Given the description of an element on the screen output the (x, y) to click on. 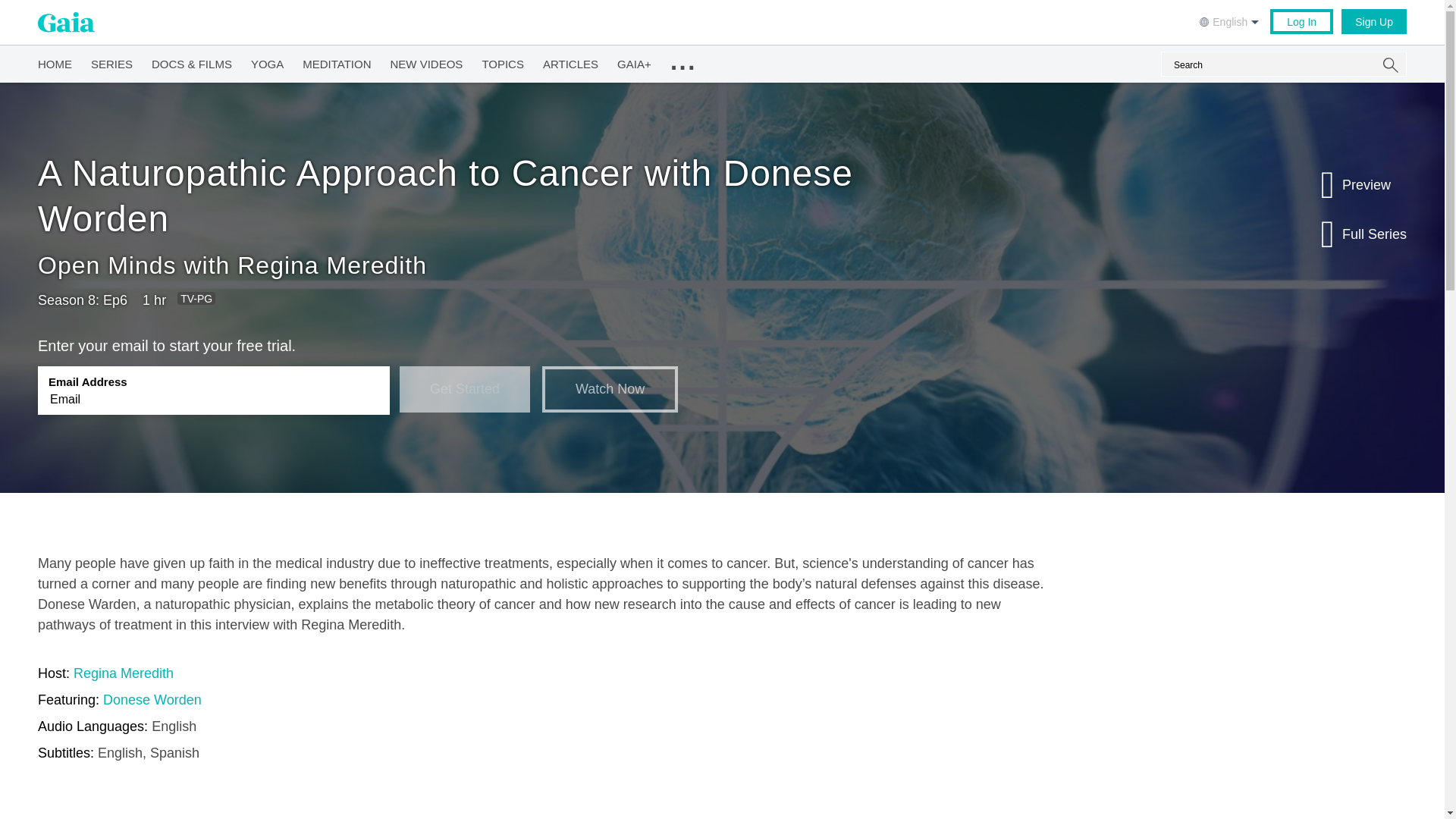
MEDITATION (336, 61)
Sign Up (1373, 21)
HOME (54, 61)
English (1230, 20)
ARTICLES (570, 61)
NEW VIDEOS (426, 61)
YOGA (266, 61)
Log In (1301, 21)
SERIES (111, 61)
TOPICS (502, 61)
